Given the description of an element on the screen output the (x, y) to click on. 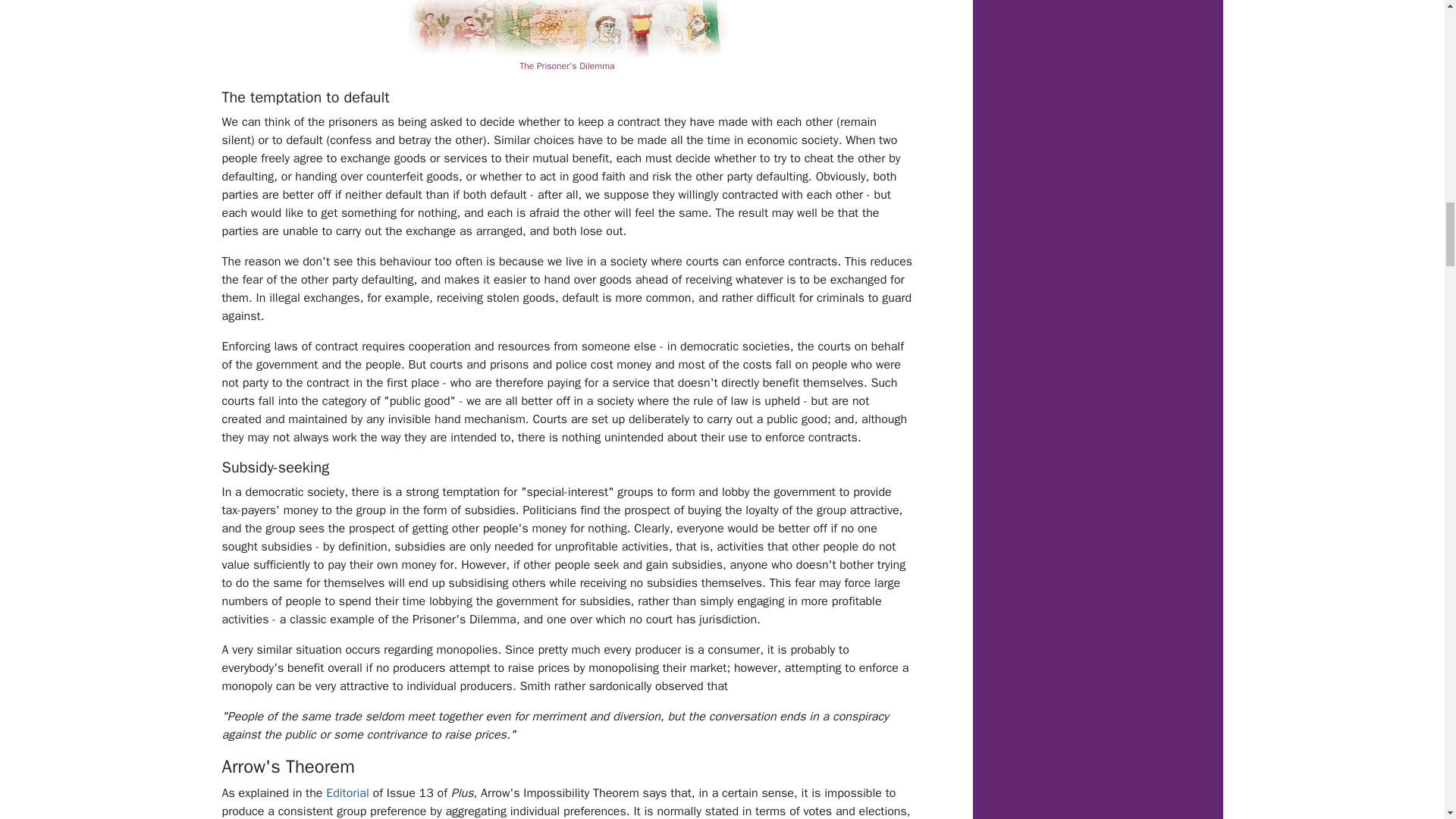
Editorial (347, 792)
